Given the description of an element on the screen output the (x, y) to click on. 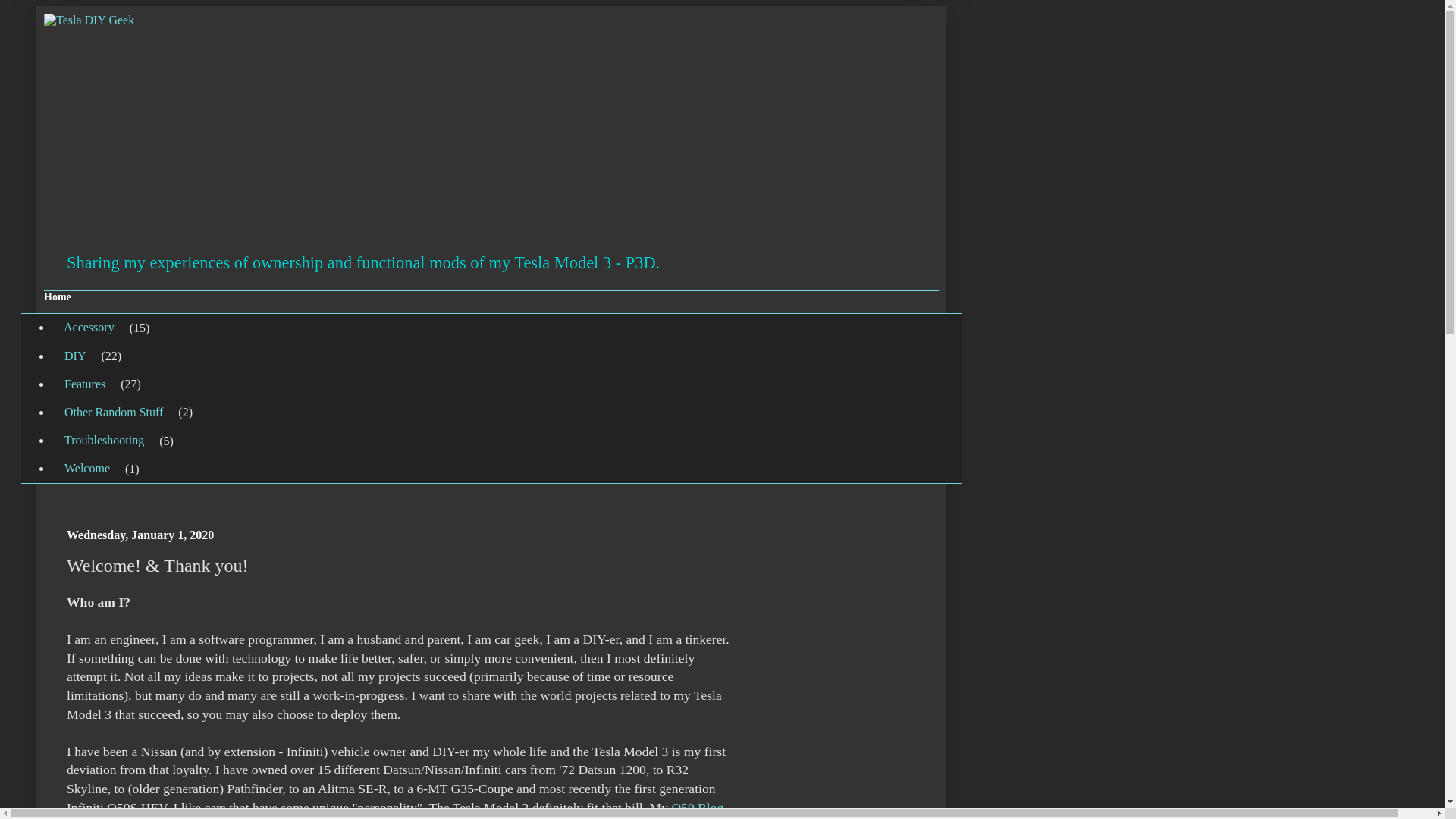
Features (83, 384)
Troubleshooting (102, 440)
Other Random Stuff (112, 411)
Welcome (86, 469)
Q50 Blog (697, 807)
DIY (73, 356)
Nissan GT-R (123, 818)
Accessory (88, 327)
